Given the description of an element on the screen output the (x, y) to click on. 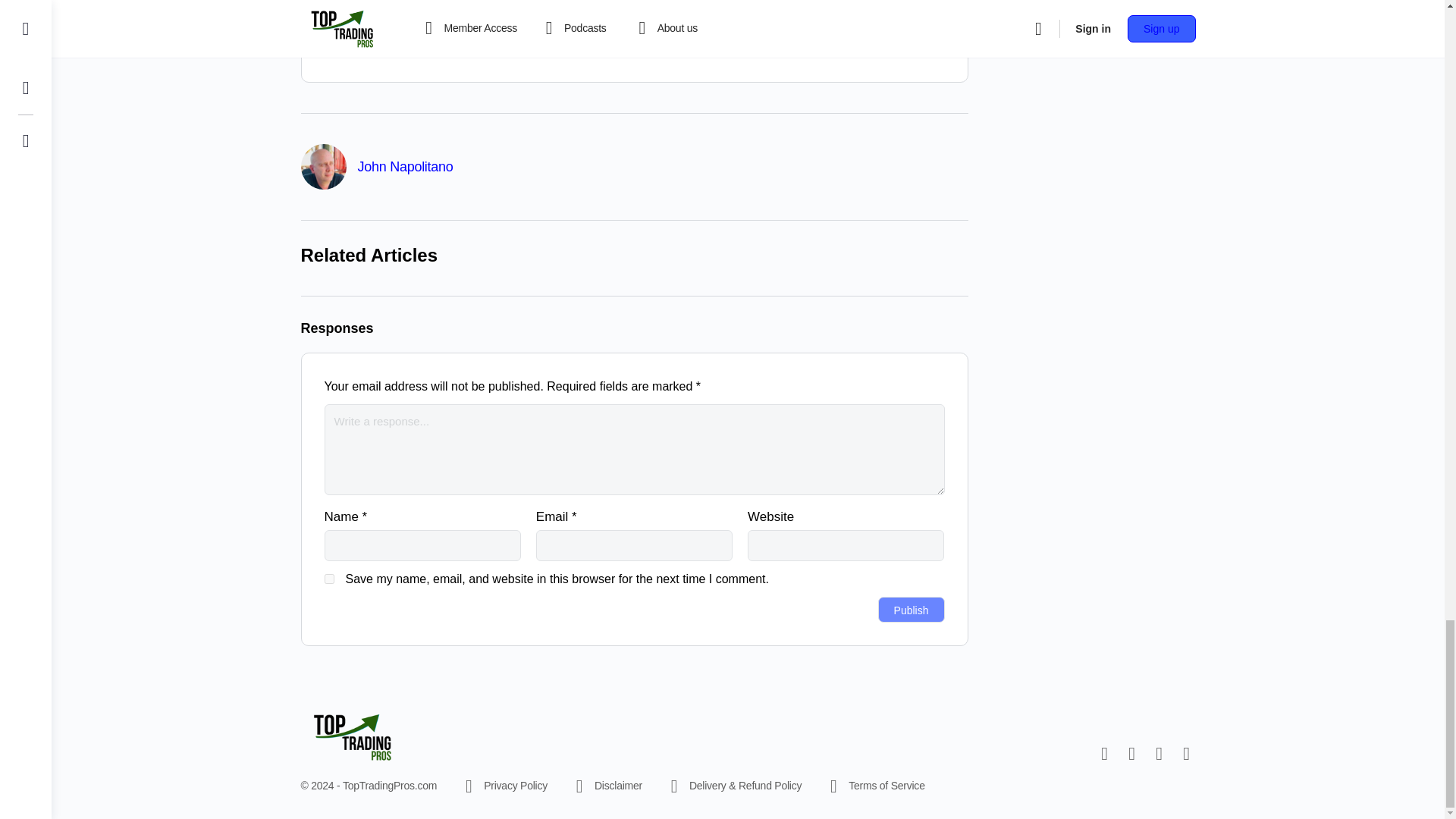
Publish (910, 609)
ChatSTP Today (548, 37)
John Napolitano (405, 166)
